Given the description of an element on the screen output the (x, y) to click on. 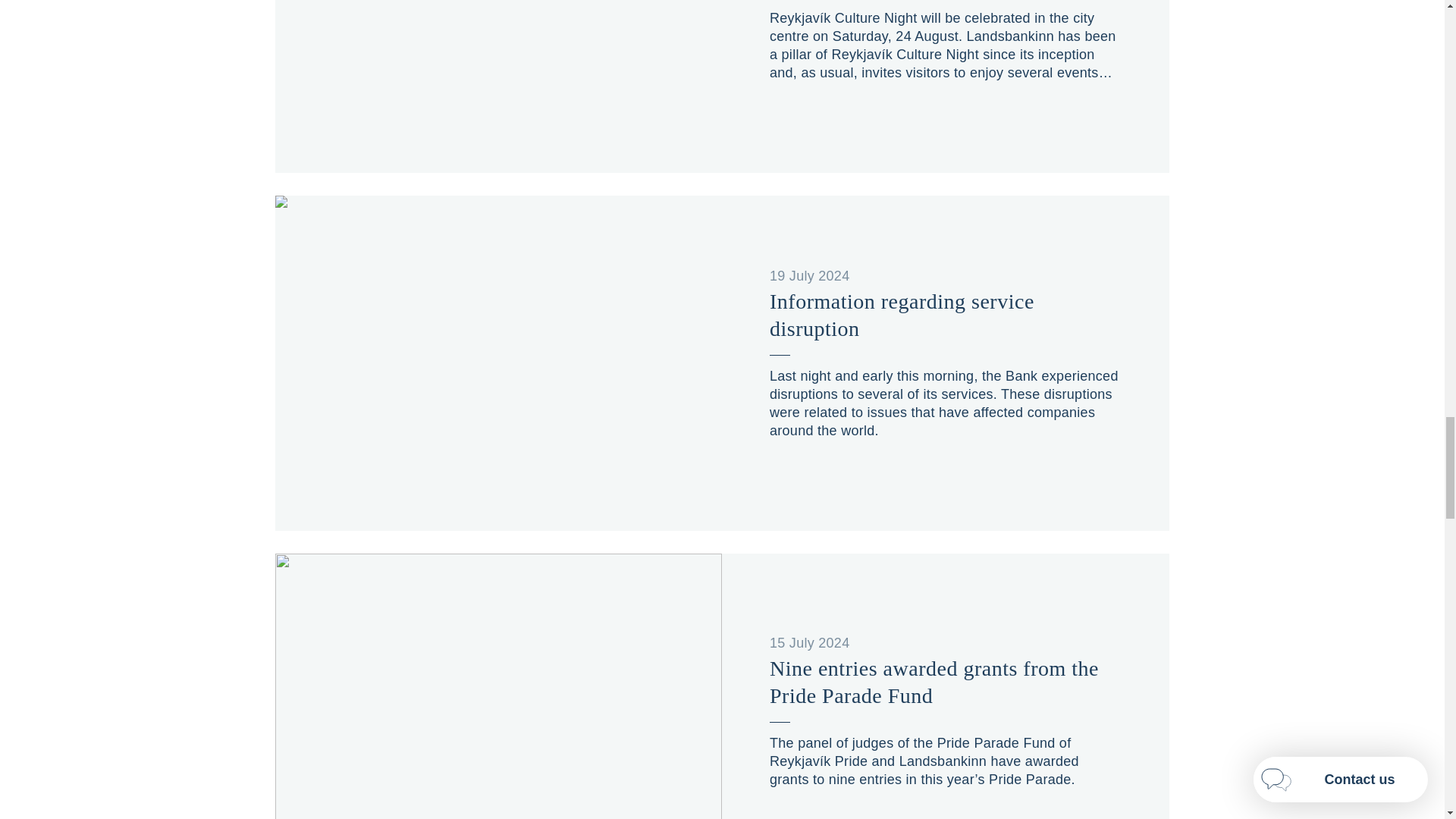
Information regarding service disruption (945, 315)
Nine entries awarded grants from the Pride Parade Fund (945, 682)
Information regarding service disruption (945, 315)
Nine entries awarded grants from the Pride Parade Fund (945, 682)
